Given the description of an element on the screen output the (x, y) to click on. 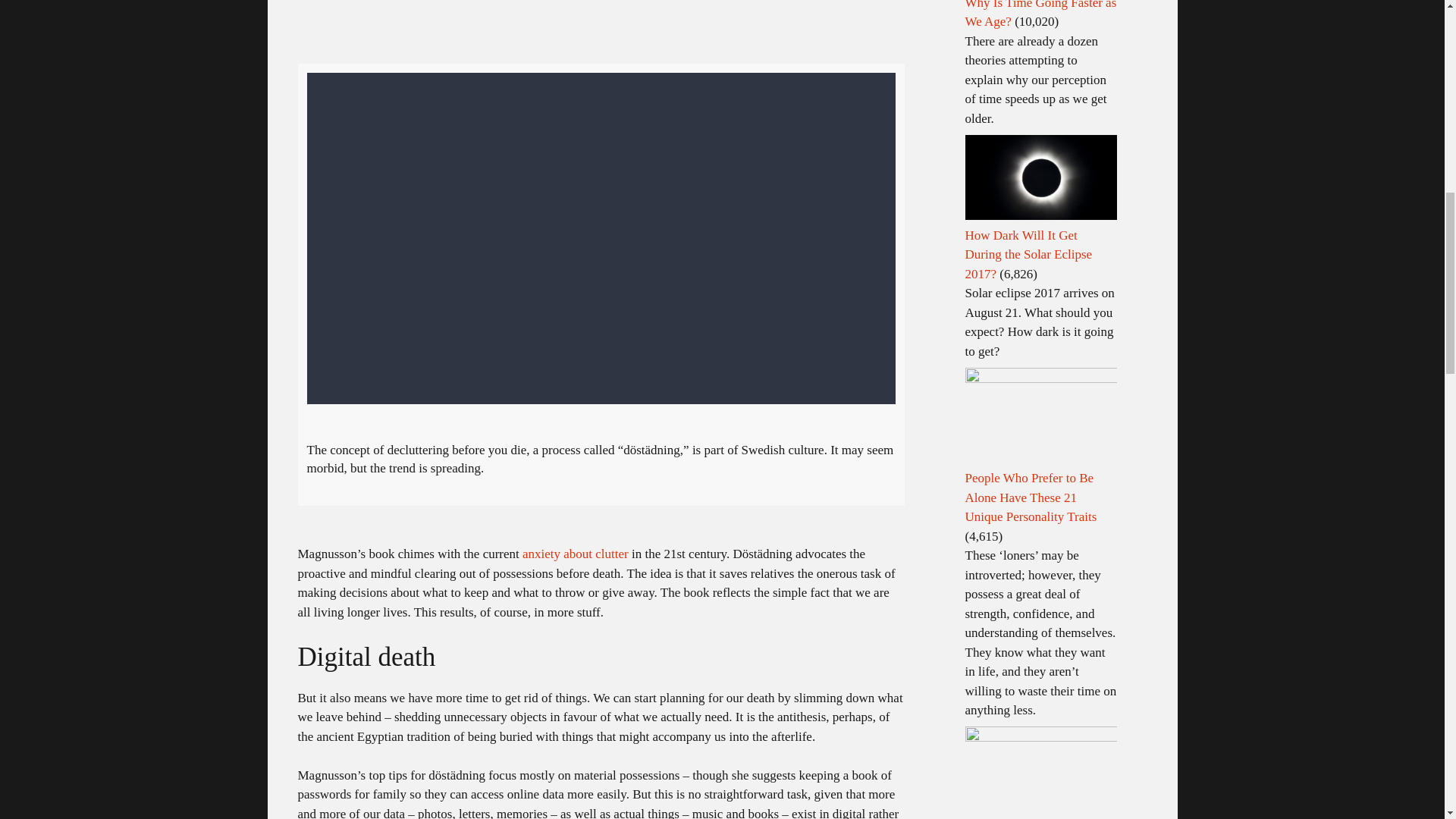
anxiety about clutter (575, 554)
How Dark Will It Get During the Solar Eclipse 2017? (1027, 254)
Why Is Time Going Faster as We Age? (1039, 14)
